Given the description of an element on the screen output the (x, y) to click on. 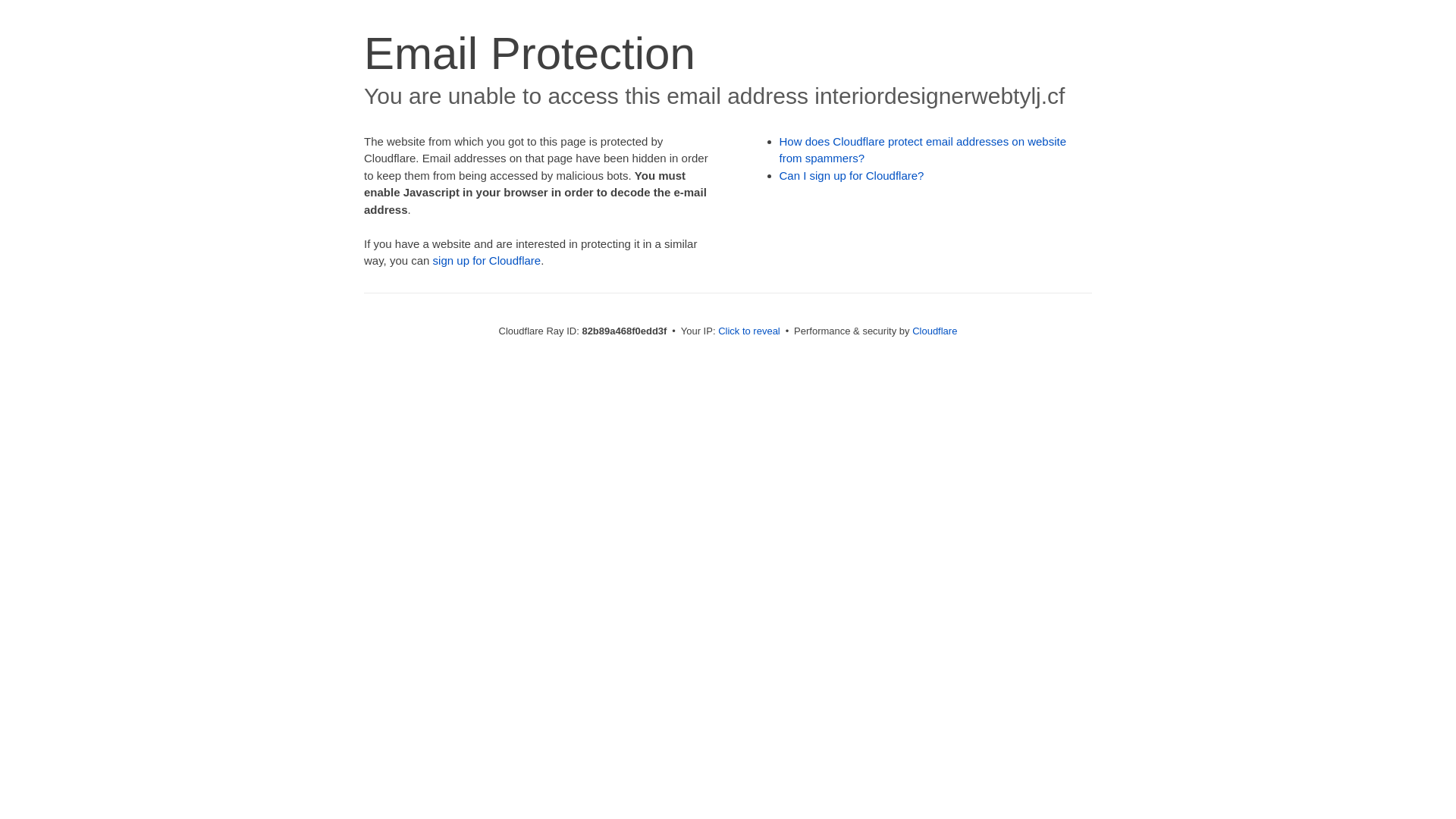
Click to reveal Element type: text (749, 330)
sign up for Cloudflare Element type: text (487, 260)
Cloudflare Element type: text (934, 330)
Can I sign up for Cloudflare? Element type: text (851, 175)
